Given the description of an element on the screen output the (x, y) to click on. 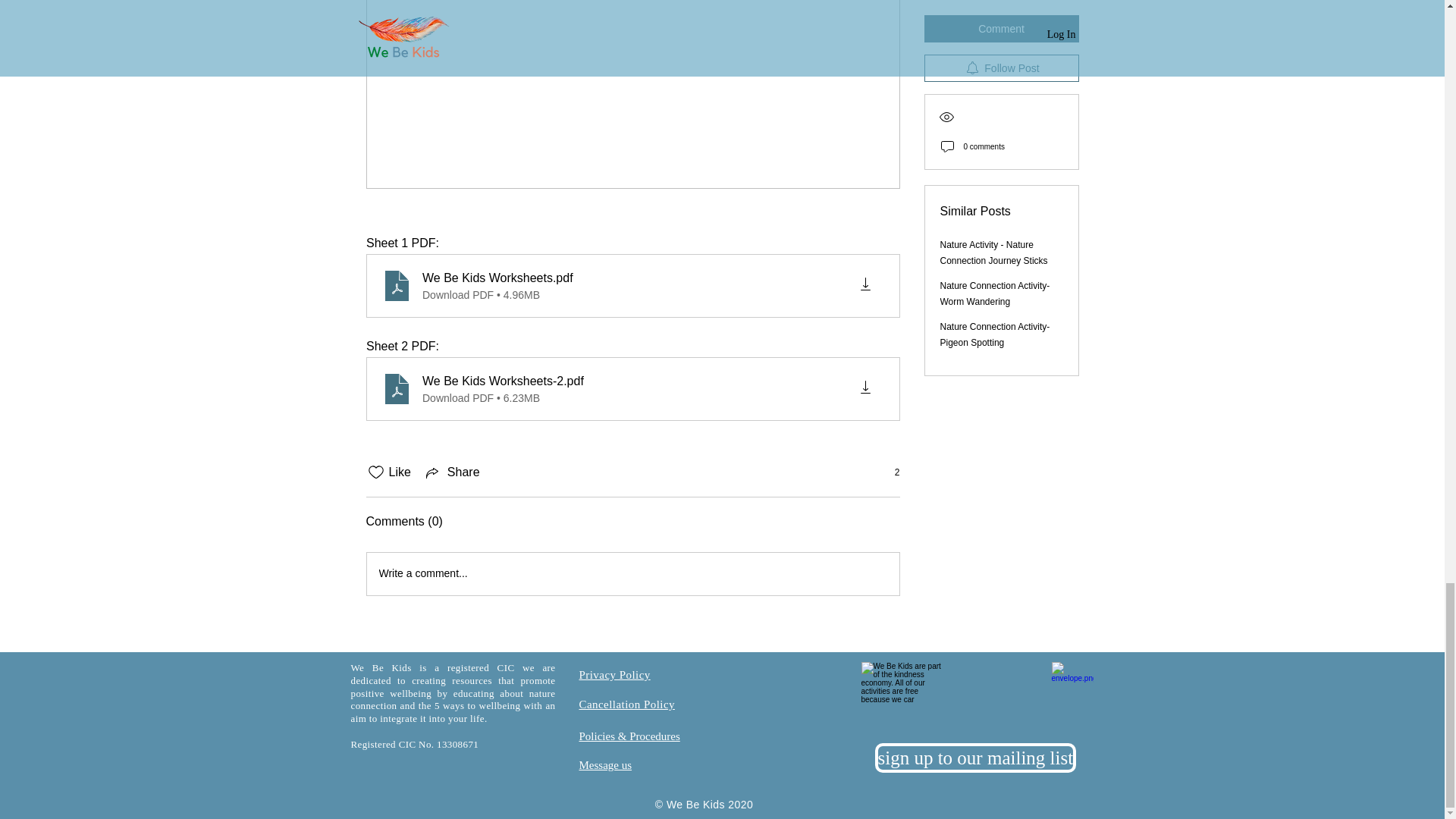
sign up to our mailing list (976, 757)
Privacy Policy (614, 674)
Cancellation Policy (627, 704)
Share (451, 472)
Write a comment... (632, 573)
Message us (605, 765)
2 (888, 472)
